Given the description of an element on the screen output the (x, y) to click on. 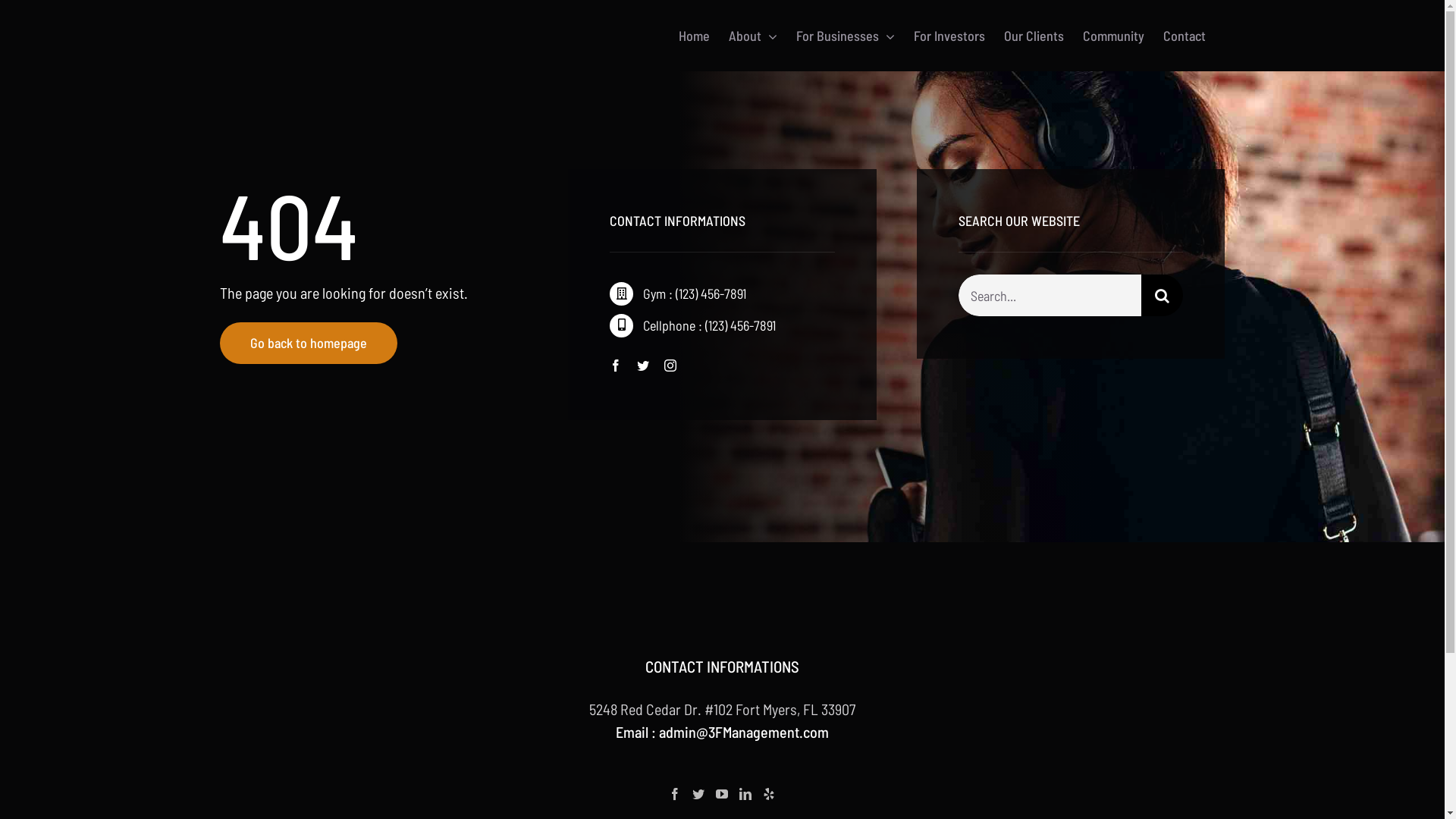
Contact Element type: text (1184, 35)
Community Element type: text (1113, 35)
Our Clients Element type: text (1033, 35)
For Investors Element type: text (949, 35)
For Businesses Element type: text (845, 35)
Home Element type: text (693, 35)
Go back to homepage Element type: text (308, 343)
About Element type: text (752, 35)
